Given the description of an element on the screen output the (x, y) to click on. 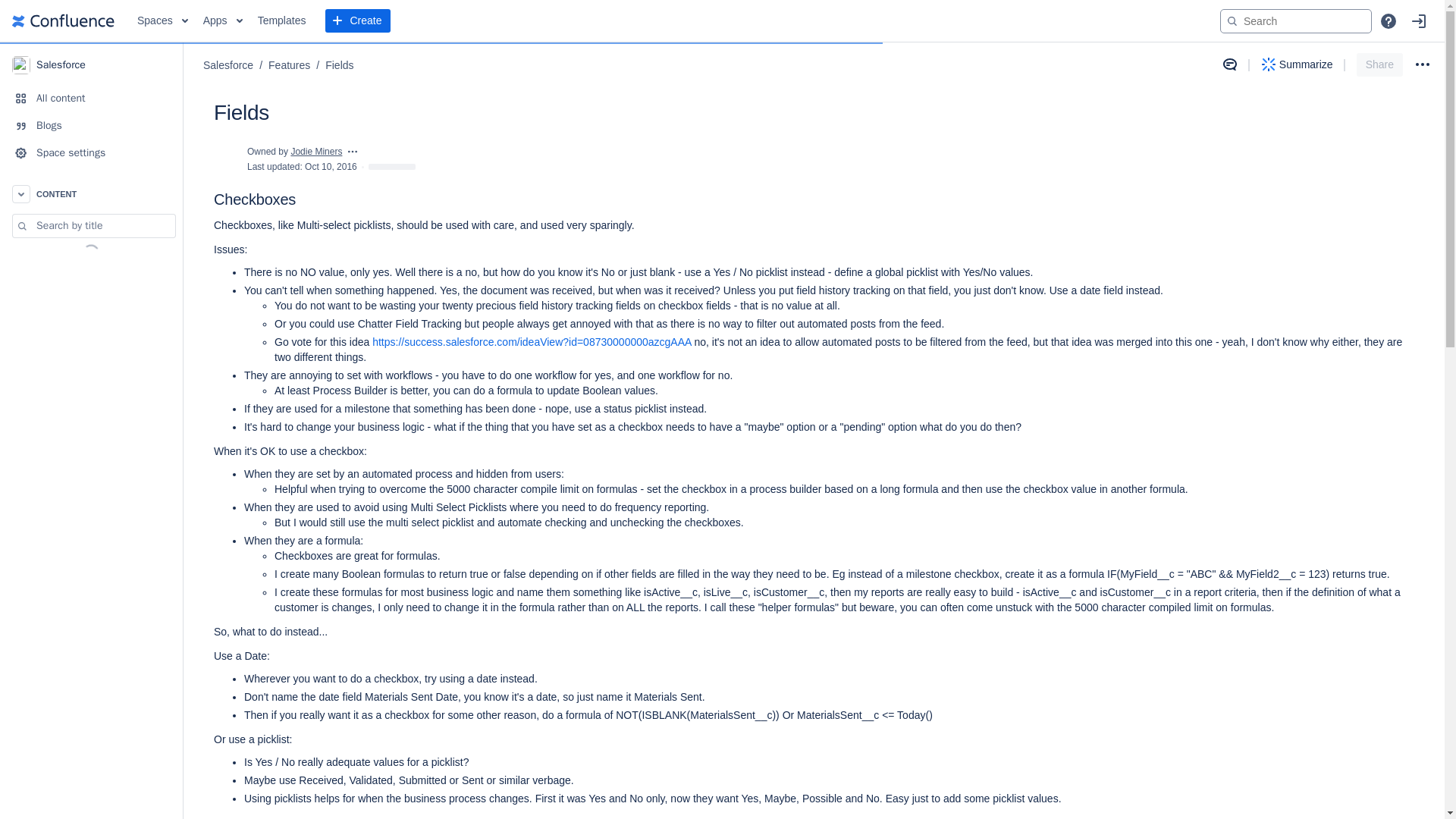
Features (288, 64)
All content (90, 98)
CONTENT (90, 194)
Fields (338, 64)
Blogs (90, 125)
Salesforce (90, 64)
Space settings (90, 153)
Create (357, 21)
Jodie Miners (315, 151)
Summarize (1297, 64)
Salesforce (228, 64)
Oct 10, 2016 (330, 166)
Templates (282, 21)
Share (1379, 64)
Spaces (162, 21)
